Given the description of an element on the screen output the (x, y) to click on. 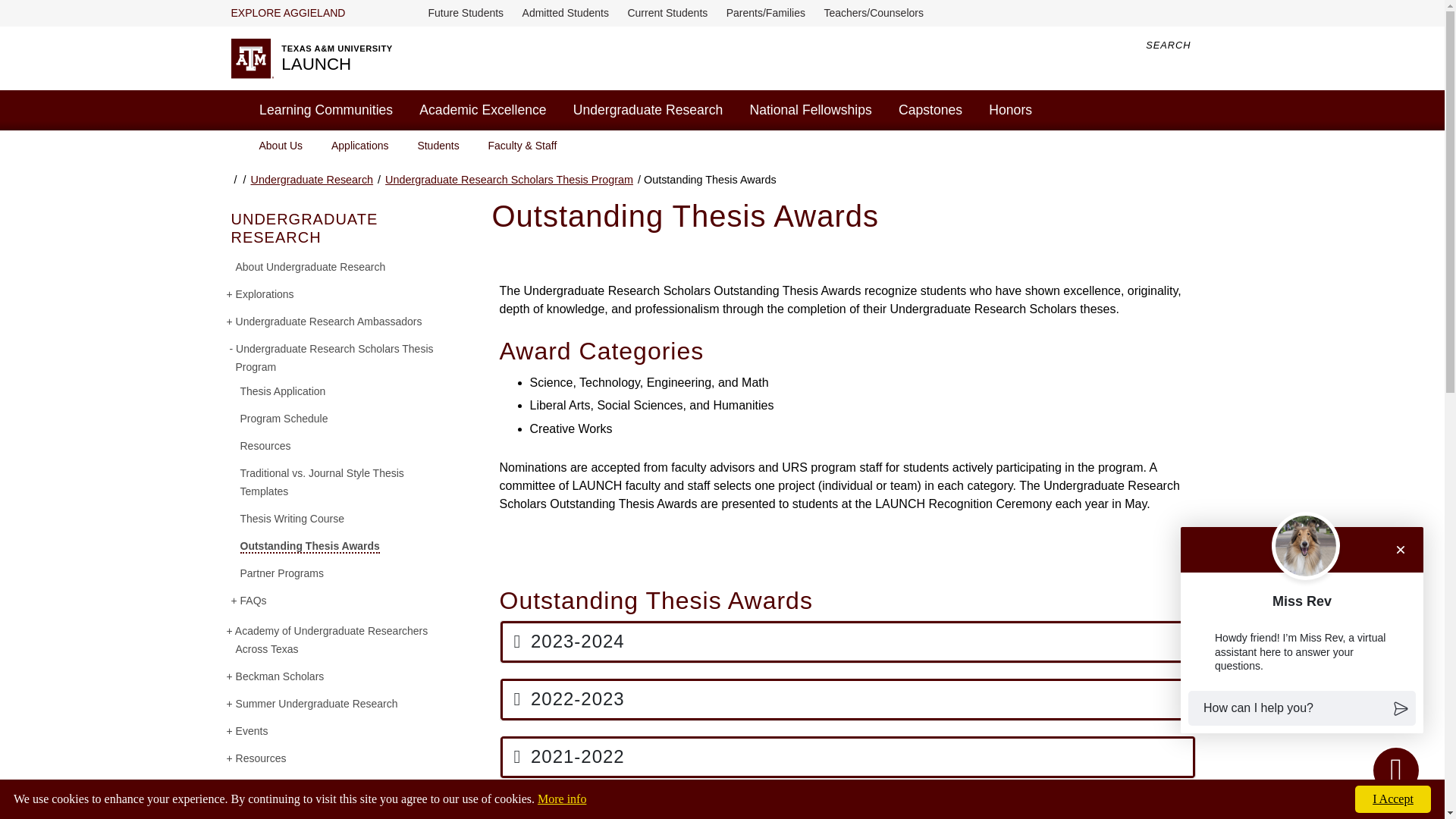
Learning Communities (326, 110)
Current Students (667, 12)
SEARCH (1178, 45)
EXPLORE AGGIELAND (289, 13)
Admitted Students (565, 12)
Future Students (465, 12)
